Given the description of an element on the screen output the (x, y) to click on. 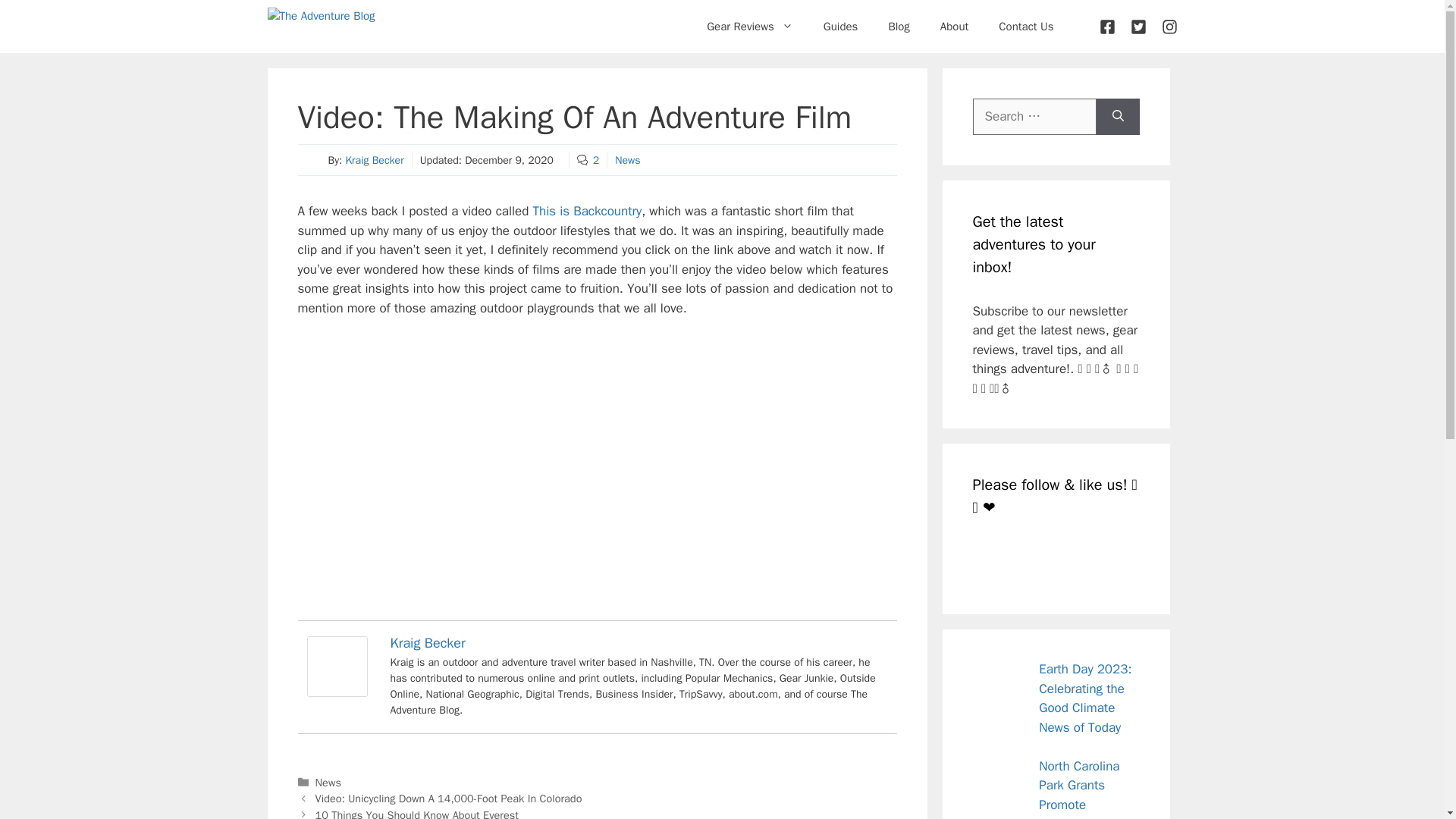
This is Backcountry (587, 211)
Contact Us (1026, 26)
Instagram (1058, 560)
Search for: (1034, 116)
Gear Reviews (749, 26)
Kraig Becker (374, 160)
Video: Unicycling Down A 14,000-Foot Peak In Colorado (448, 798)
10 Things You Should Know About Everest (416, 813)
Earth Day 2023: Celebrating the Good Climate News of Today (1085, 697)
Blog (898, 26)
